Given the description of an element on the screen output the (x, y) to click on. 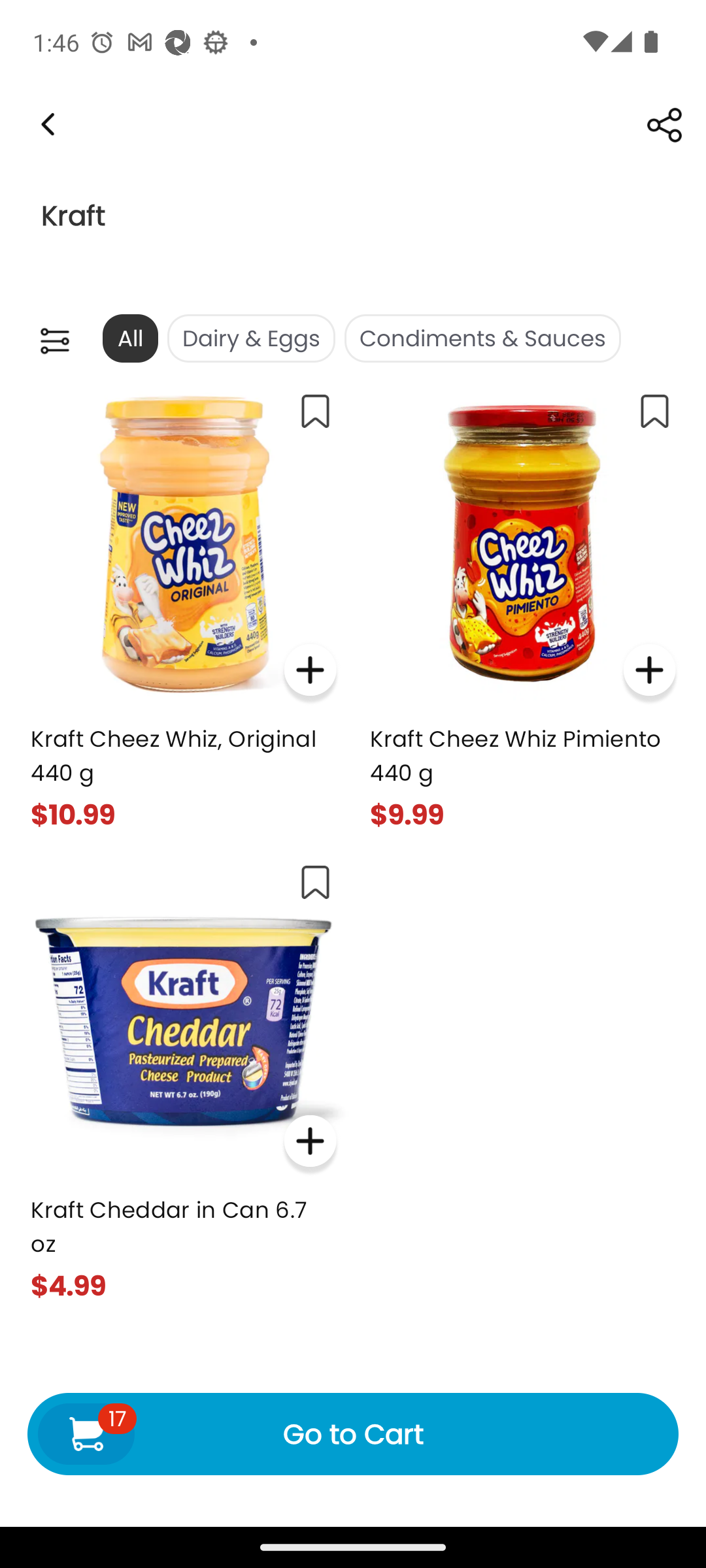
All (130, 338)
Dairy & Eggs (251, 338)
Condiments & Sauces (482, 338)
Kraft Cheez Whiz, Original 440 g $10.99 (182, 605)
Kraft Cheez Whiz Pimiento 440 g $9.99 (522, 605)
Kraft Cheddar in Can 6.7 oz $4.99 (182, 1076)
17 Go to Cart (352, 1433)
